Given the description of an element on the screen output the (x, y) to click on. 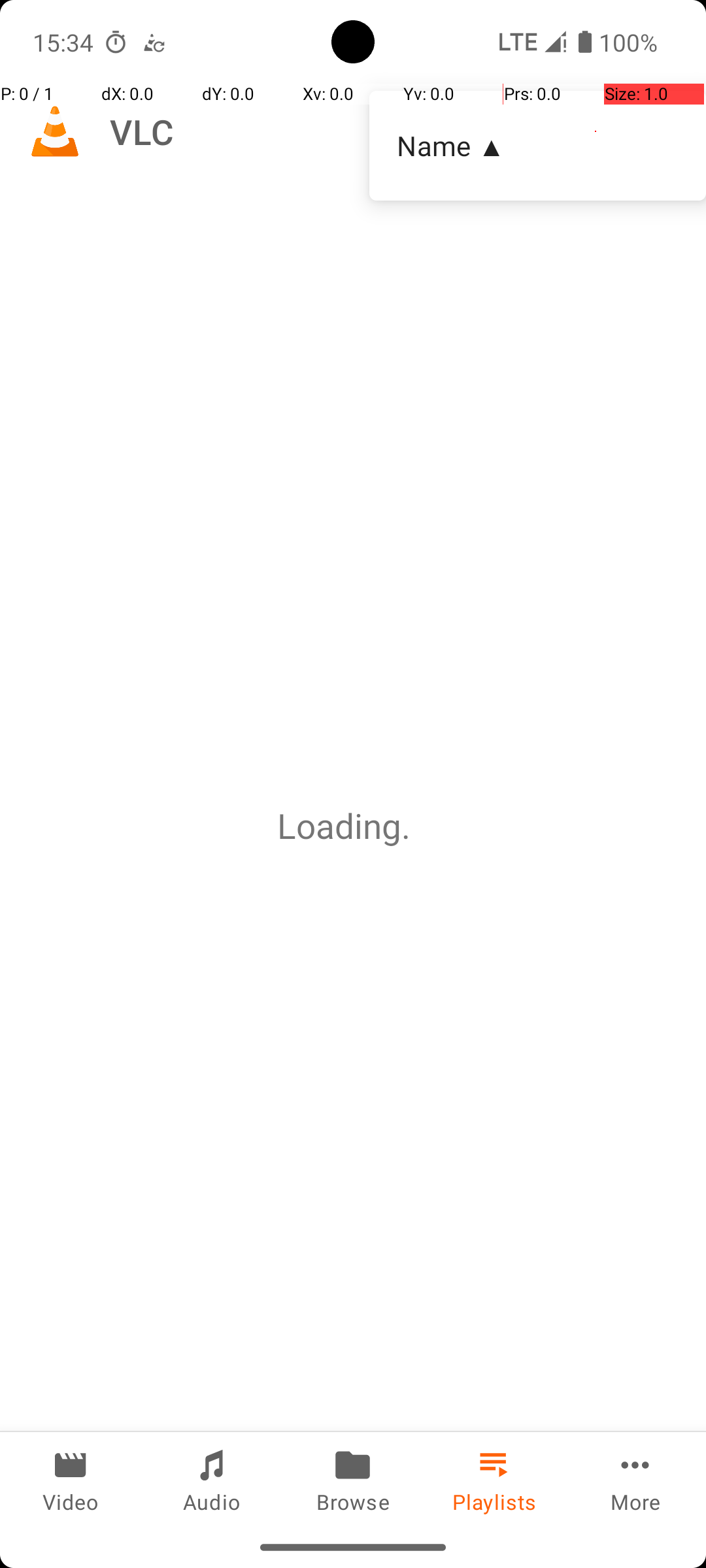
Name. Ascending Element type: android.widget.LinearLayout (537, 145)
Name ▲ Element type: android.widget.TextView (537, 145)
